Given the description of an element on the screen output the (x, y) to click on. 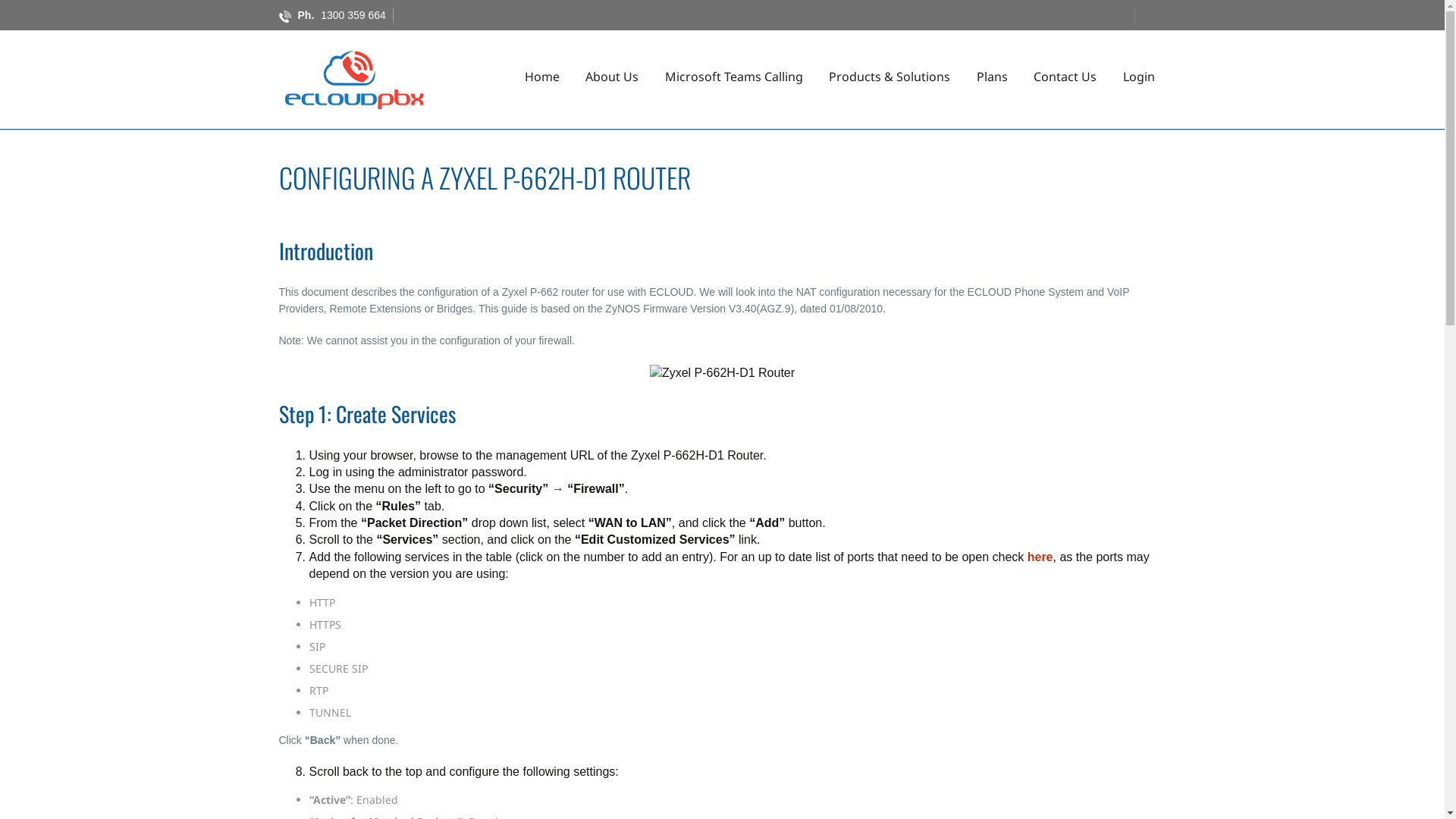
Login Element type: text (1138, 76)
  Element type: text (420, 740)
Plans Element type: text (992, 76)
About Us Element type: text (611, 76)
ECloud PBX Element type: hover (354, 78)
Skip to content Element type: text (838, 52)
Home Element type: text (542, 76)
Products & Solutions Element type: text (889, 76)
here Element type: text (1040, 556)
Microsoft Teams Calling Element type: text (733, 76)
1300 359 664 Element type: text (356, 15)
Zyxel P-662H-D1 Router Element type: hover (721, 372)
Contact Us Element type: text (1064, 76)
